Given the description of an element on the screen output the (x, y) to click on. 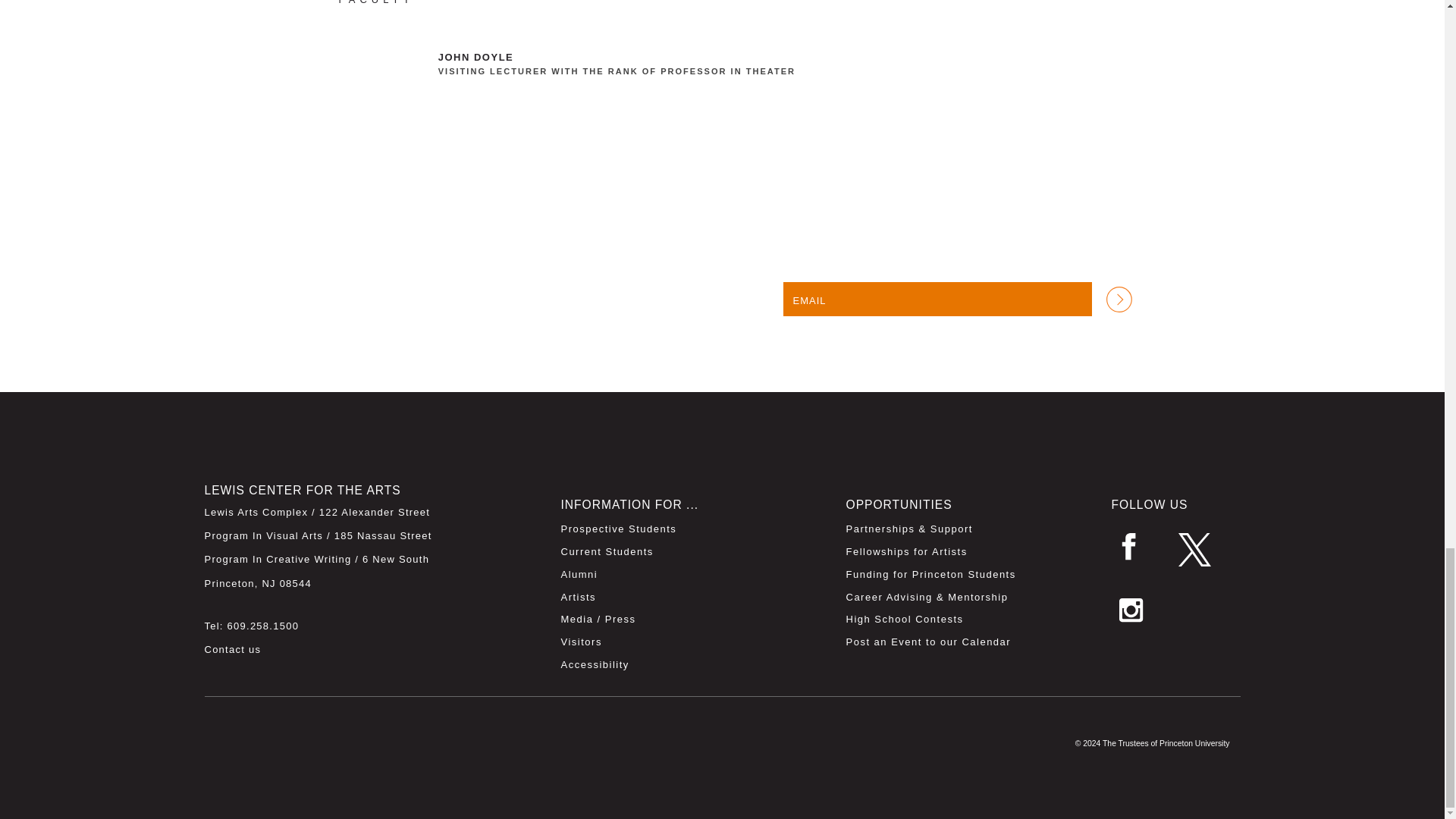
Subscribe (1118, 299)
